Given the description of an element on the screen output the (x, y) to click on. 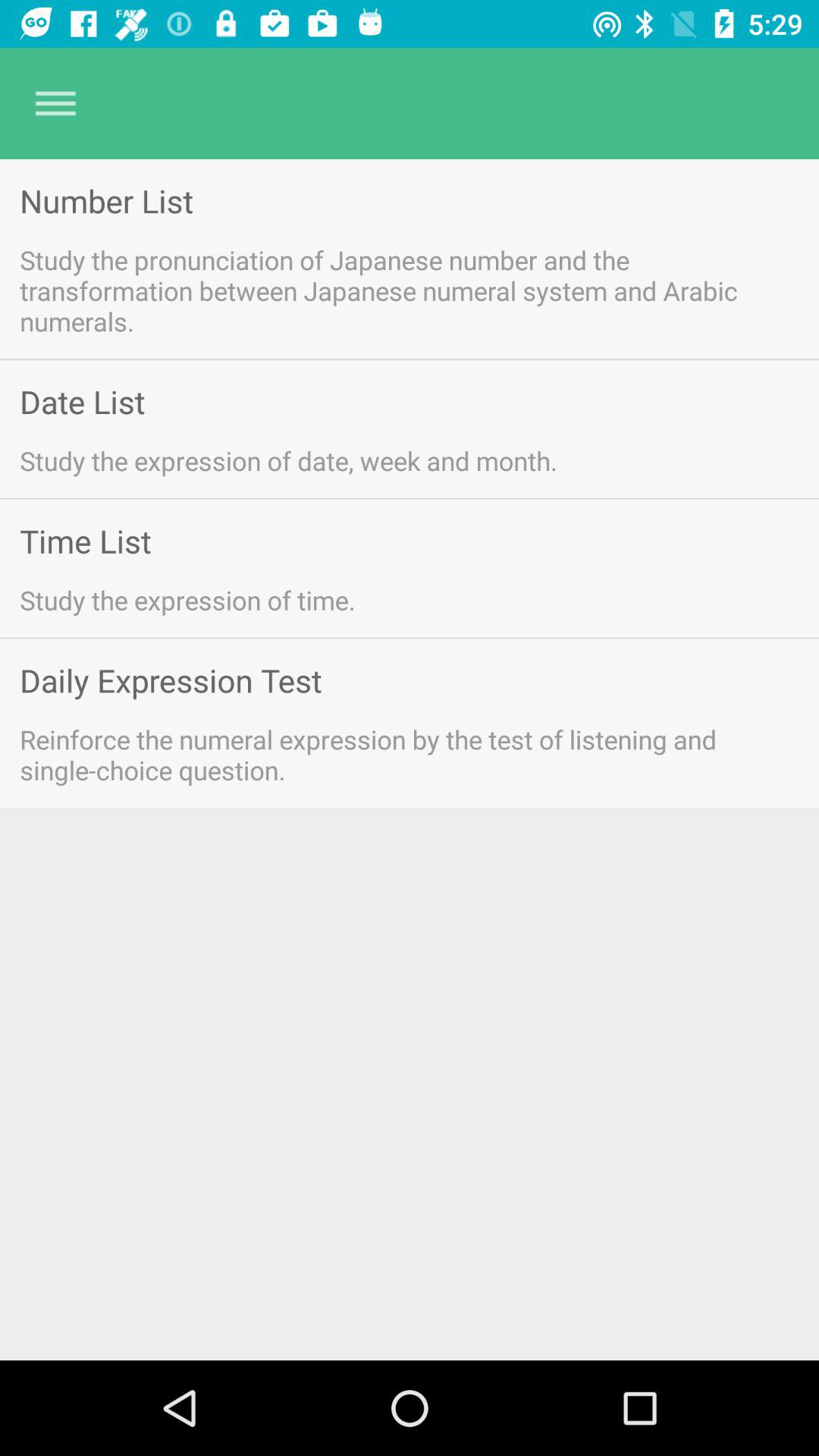
turn on app above number list (55, 103)
